Given the description of an element on the screen output the (x, y) to click on. 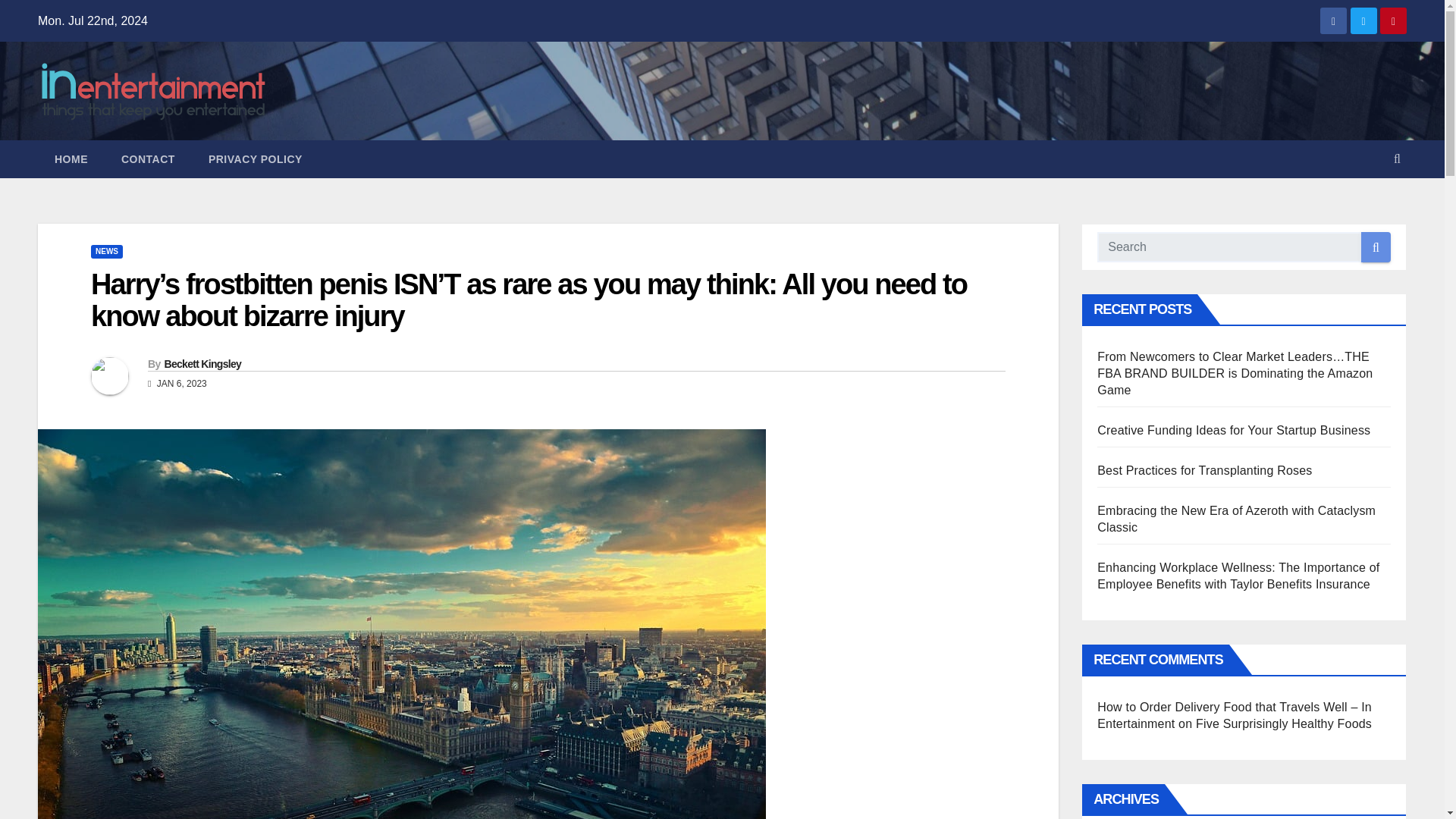
CONTACT (148, 159)
Creative Funding Ideas for Your Startup Business (1233, 430)
NEWS (106, 251)
Home (70, 159)
Beckett Kingsley (202, 363)
PRIVACY POLICY (255, 159)
HOME (70, 159)
Embracing the New Era of Azeroth with Cataclysm Classic (1236, 518)
Best Practices for Transplanting Roses (1204, 470)
